Given the description of an element on the screen output the (x, y) to click on. 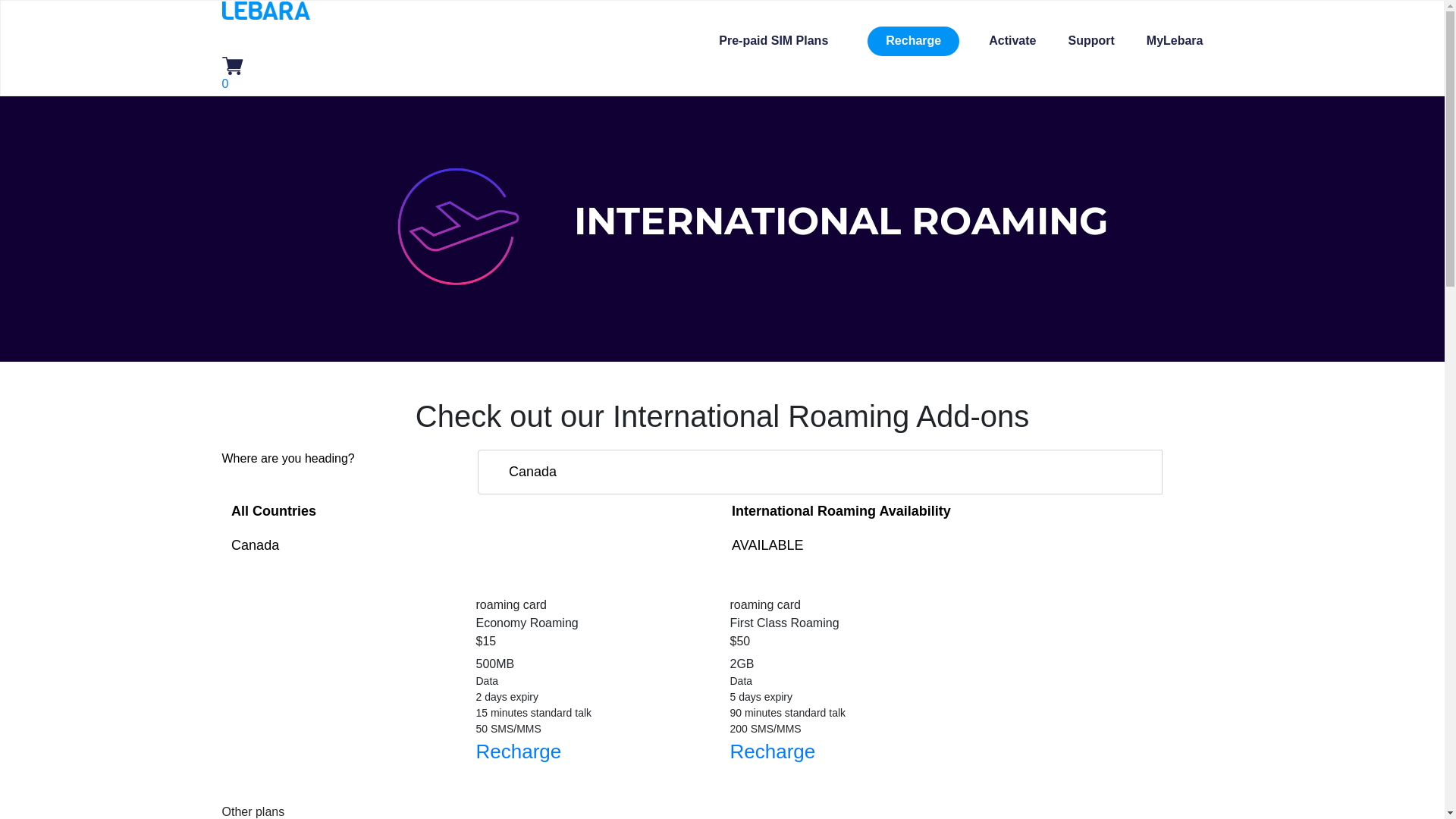
Pre-paid SIM Plans Element type: text (778, 41)
Recharge Element type: text (518, 751)
Recharge Element type: text (772, 751)
Activate Element type: text (1012, 41)
MyLebara Element type: text (1174, 41)
Lebara Element type: hover (265, 9)
0 Element type: text (231, 74)
Support Element type: text (1090, 41)
Recharge Element type: text (913, 41)
